Given the description of an element on the screen output the (x, y) to click on. 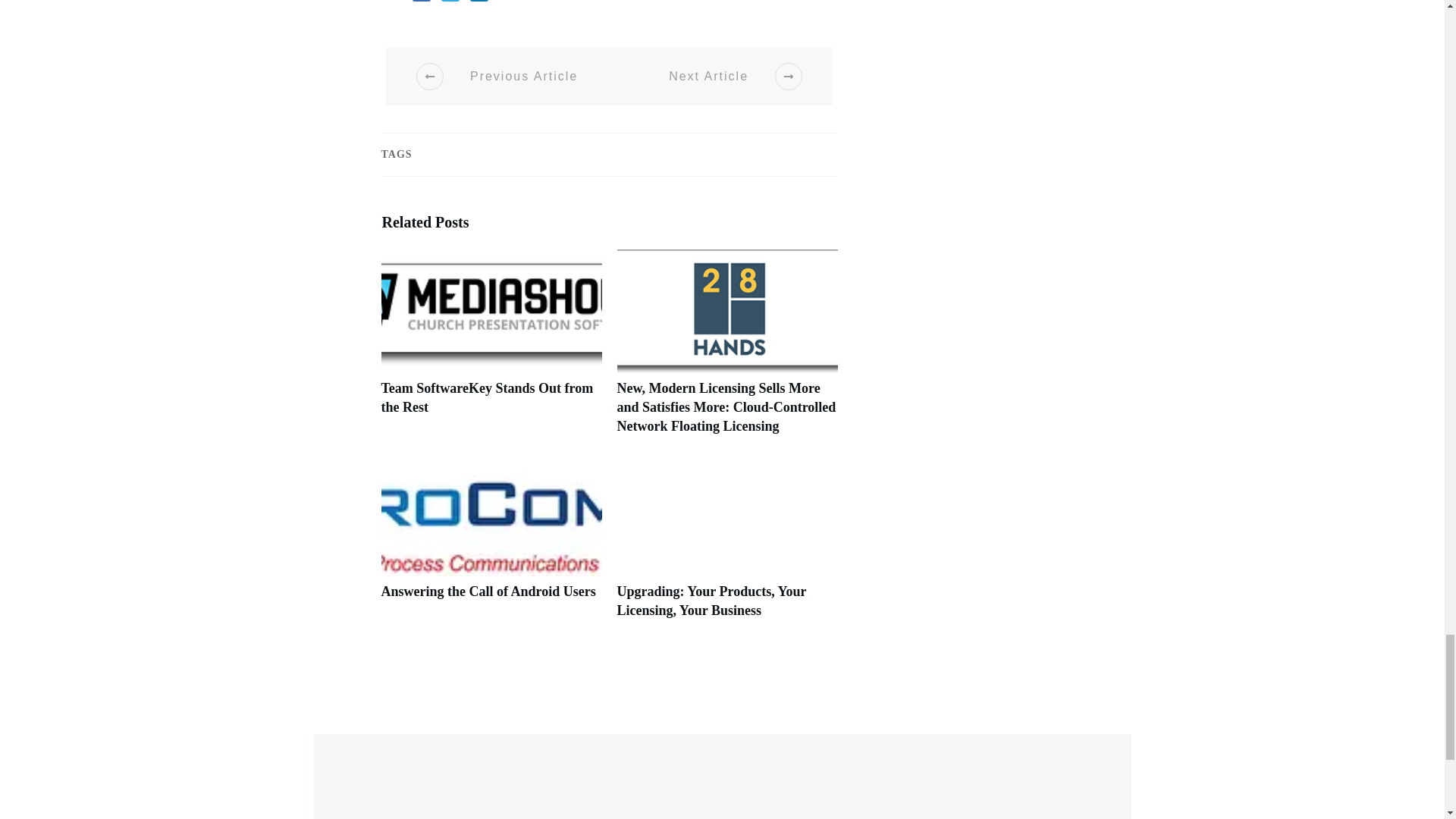
Upgrading: Your Products, Your Licensing, Your Business (711, 600)
Team SoftwareKey Stands Out from the Rest (486, 397)
Answering the Call of Android Users (487, 590)
